Given the description of an element on the screen output the (x, y) to click on. 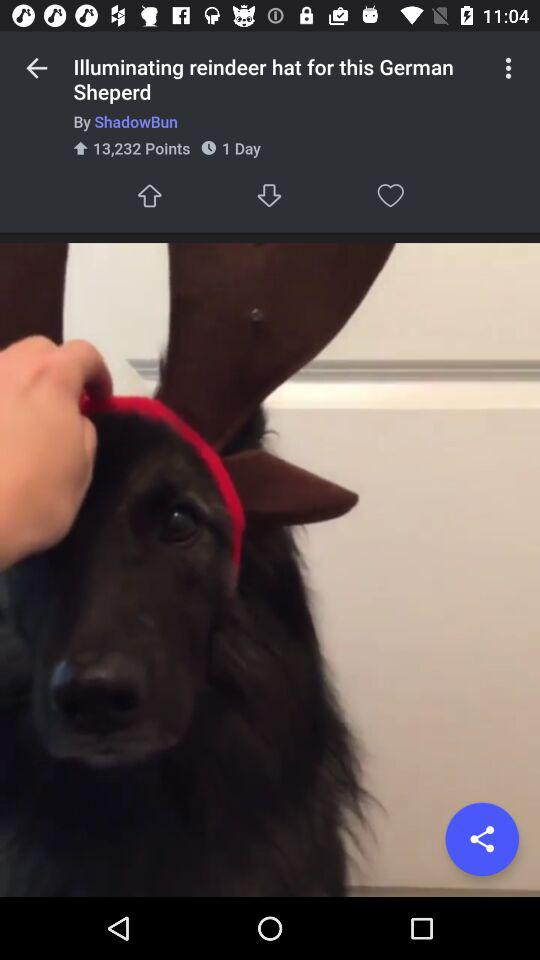
launch icon above by shadowbun item (508, 68)
